Given the description of an element on the screen output the (x, y) to click on. 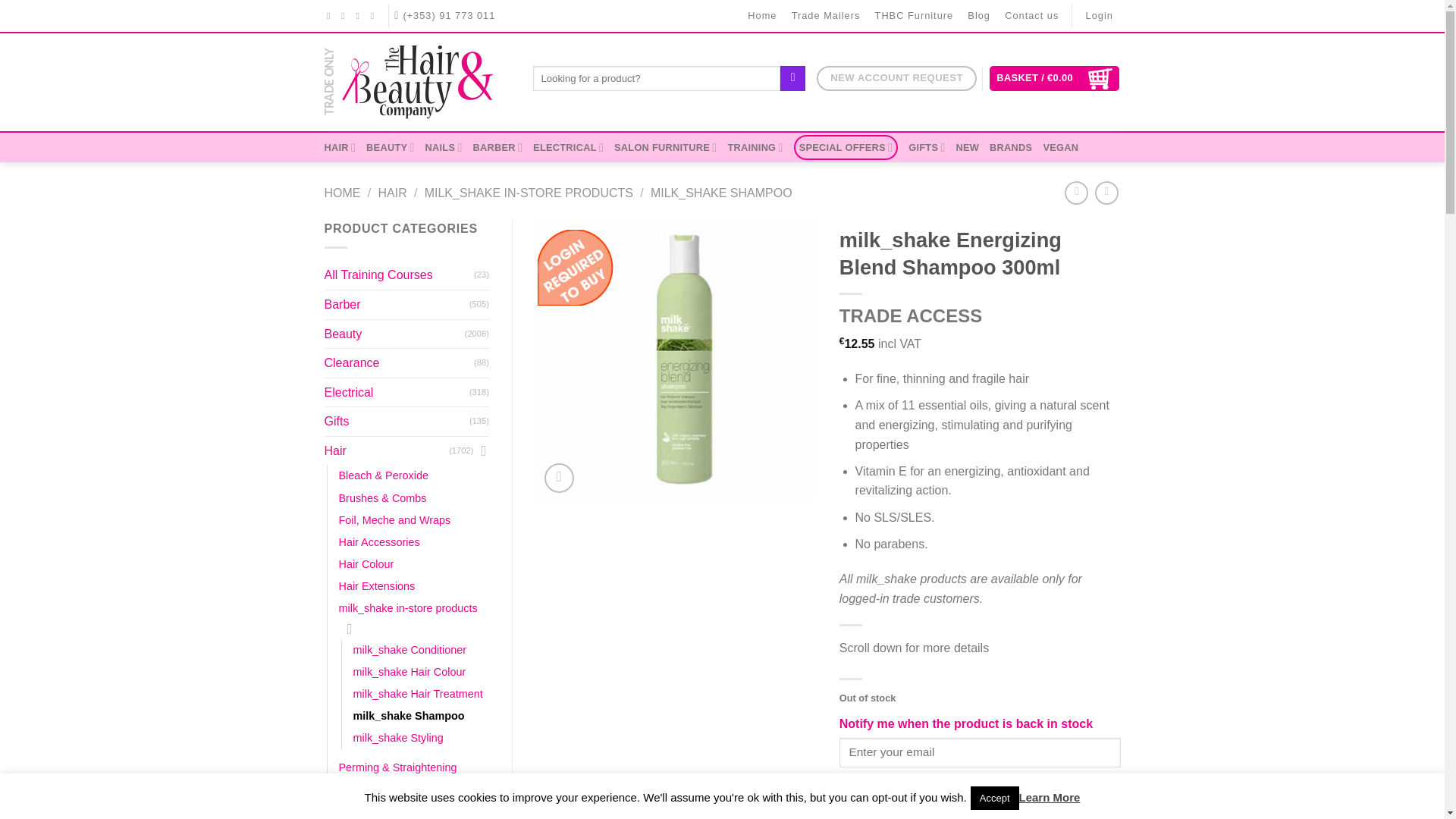
Scroll down for more details (914, 647)
Login (1099, 15)
HAIR (340, 147)
NEW ACCOUNT REQUEST (895, 78)
Login (1099, 15)
Home (762, 15)
THBC Furniture (913, 15)
Search (792, 78)
Basket (1054, 78)
Zoom (558, 478)
Trade Mailers (825, 15)
Contact us (1031, 15)
Blog (978, 15)
Fill the form to get a trade access (895, 78)
